Given the description of an element on the screen output the (x, y) to click on. 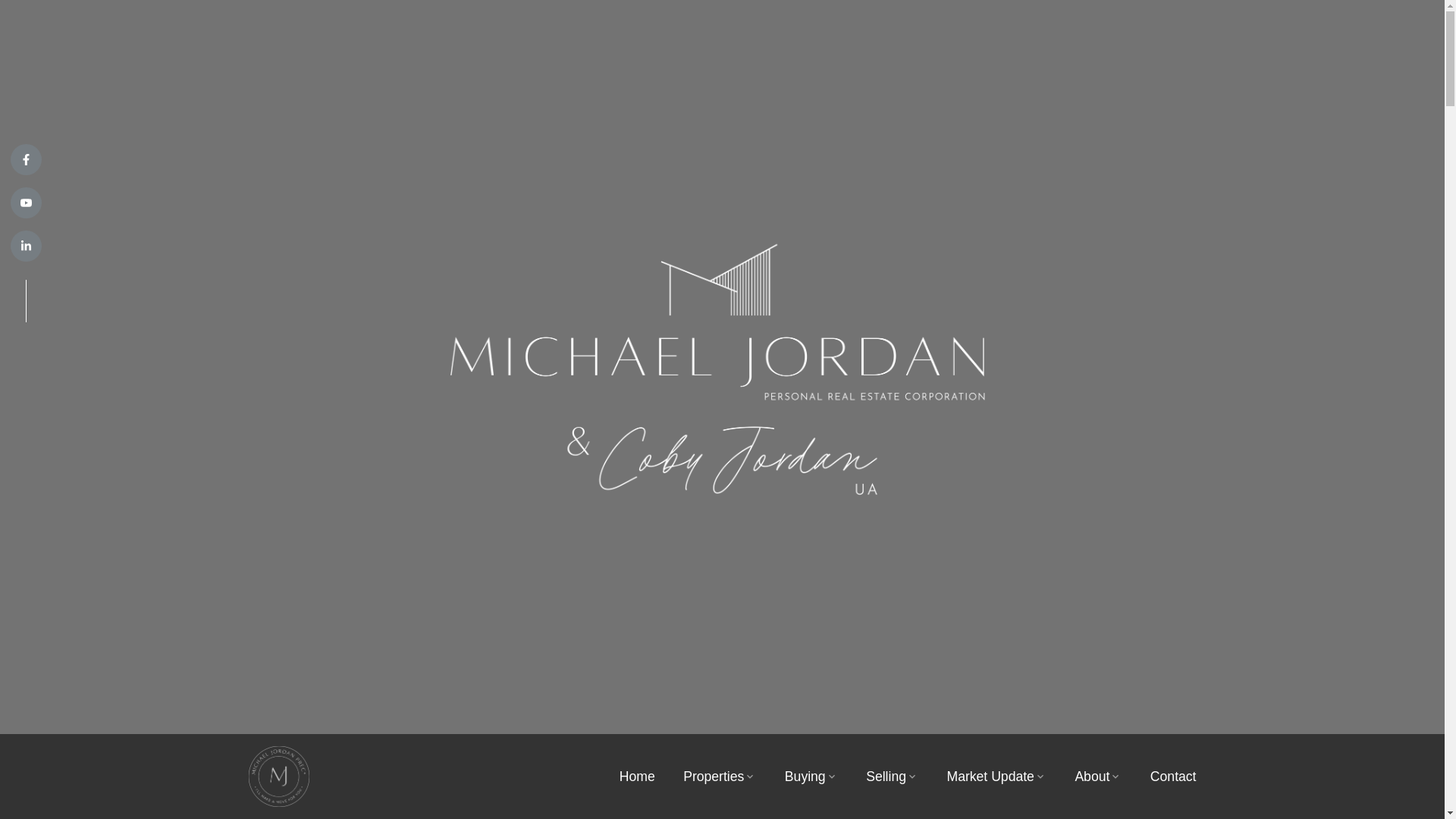
Contact (1173, 776)
Home (637, 776)
